Given the description of an element on the screen output the (x, y) to click on. 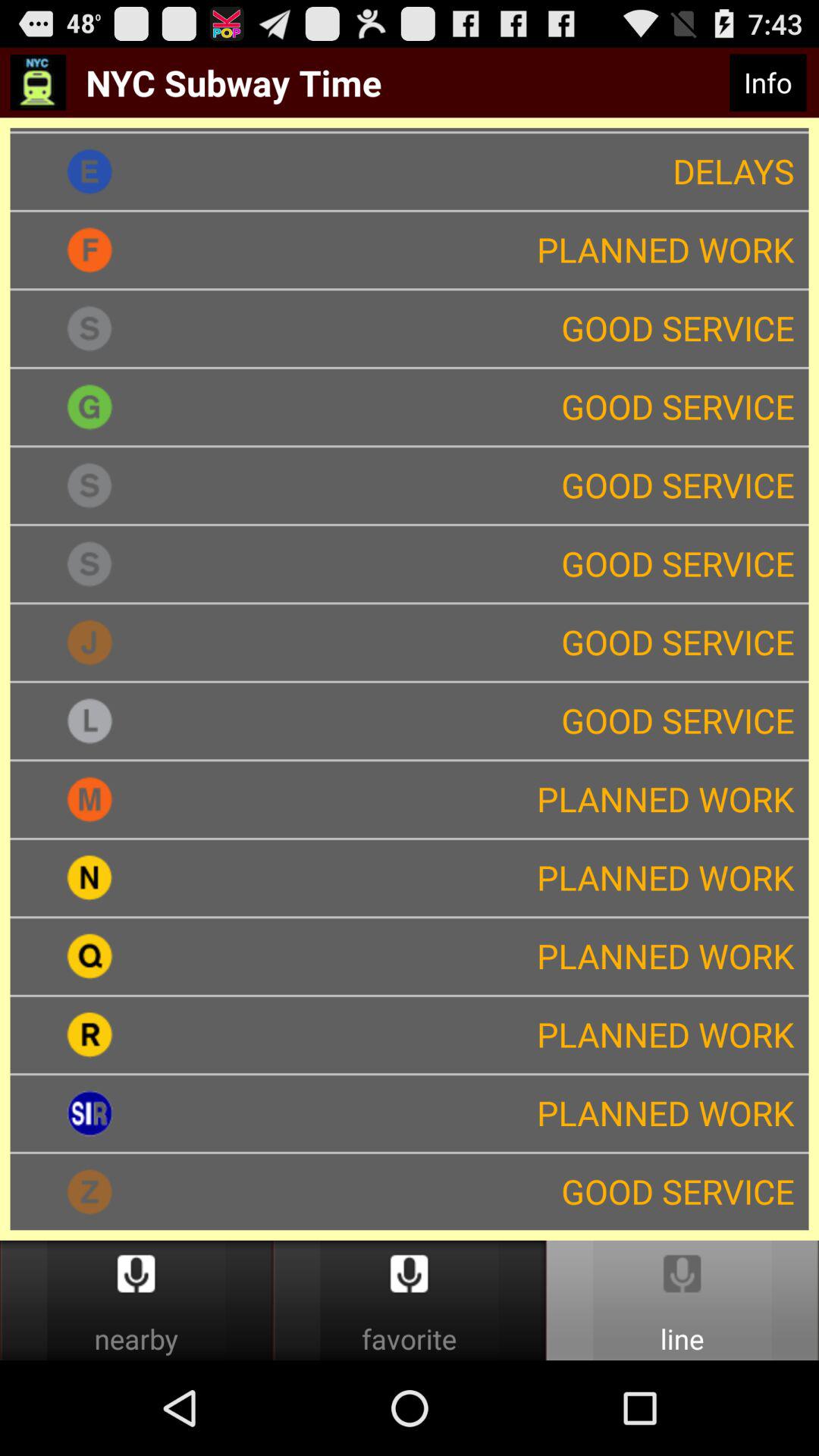
swipe until delays app (488, 170)
